Given the description of an element on the screen output the (x, y) to click on. 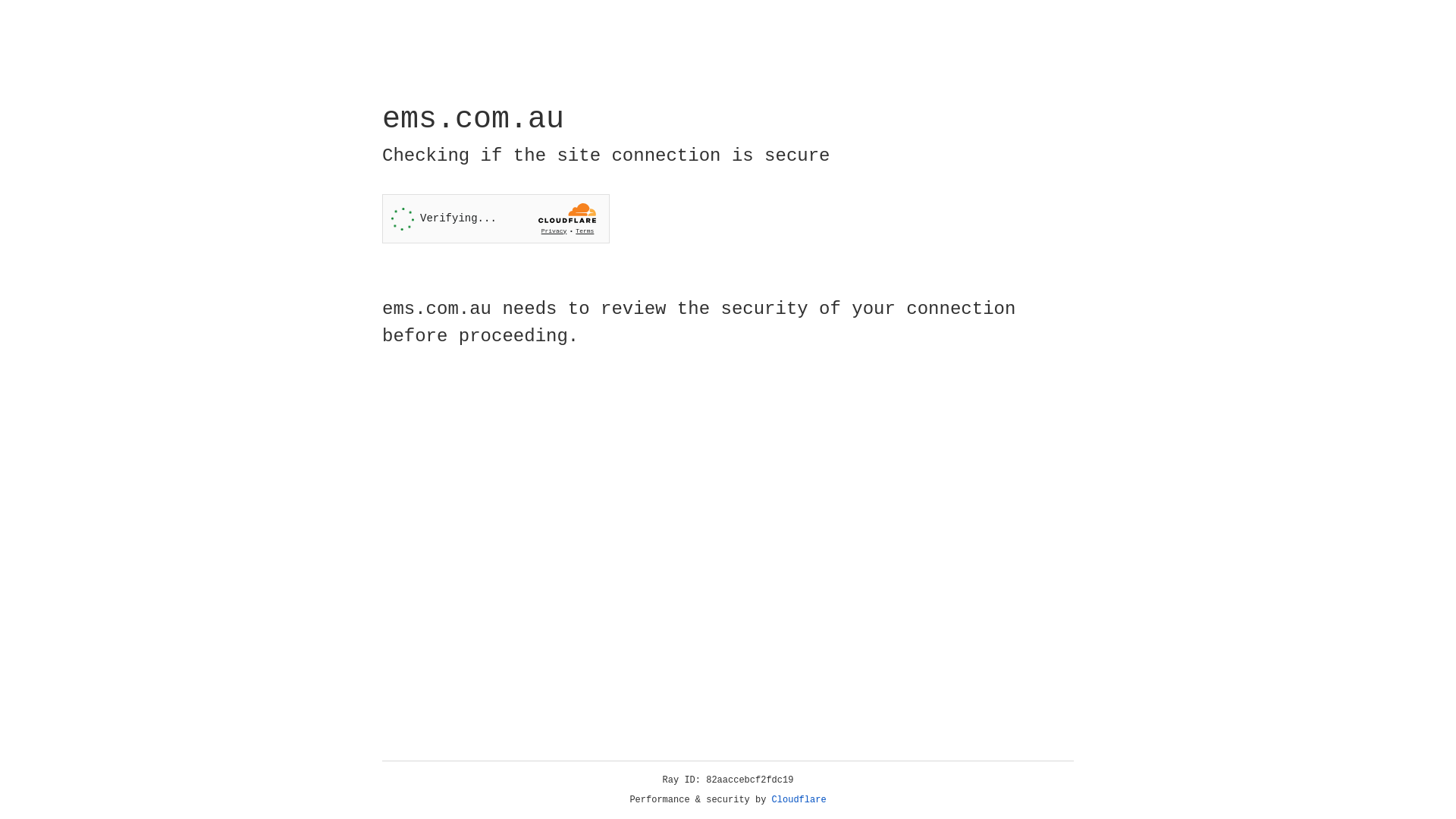
Widget containing a Cloudflare security challenge Element type: hover (495, 218)
Cloudflare Element type: text (798, 799)
